Given the description of an element on the screen output the (x, y) to click on. 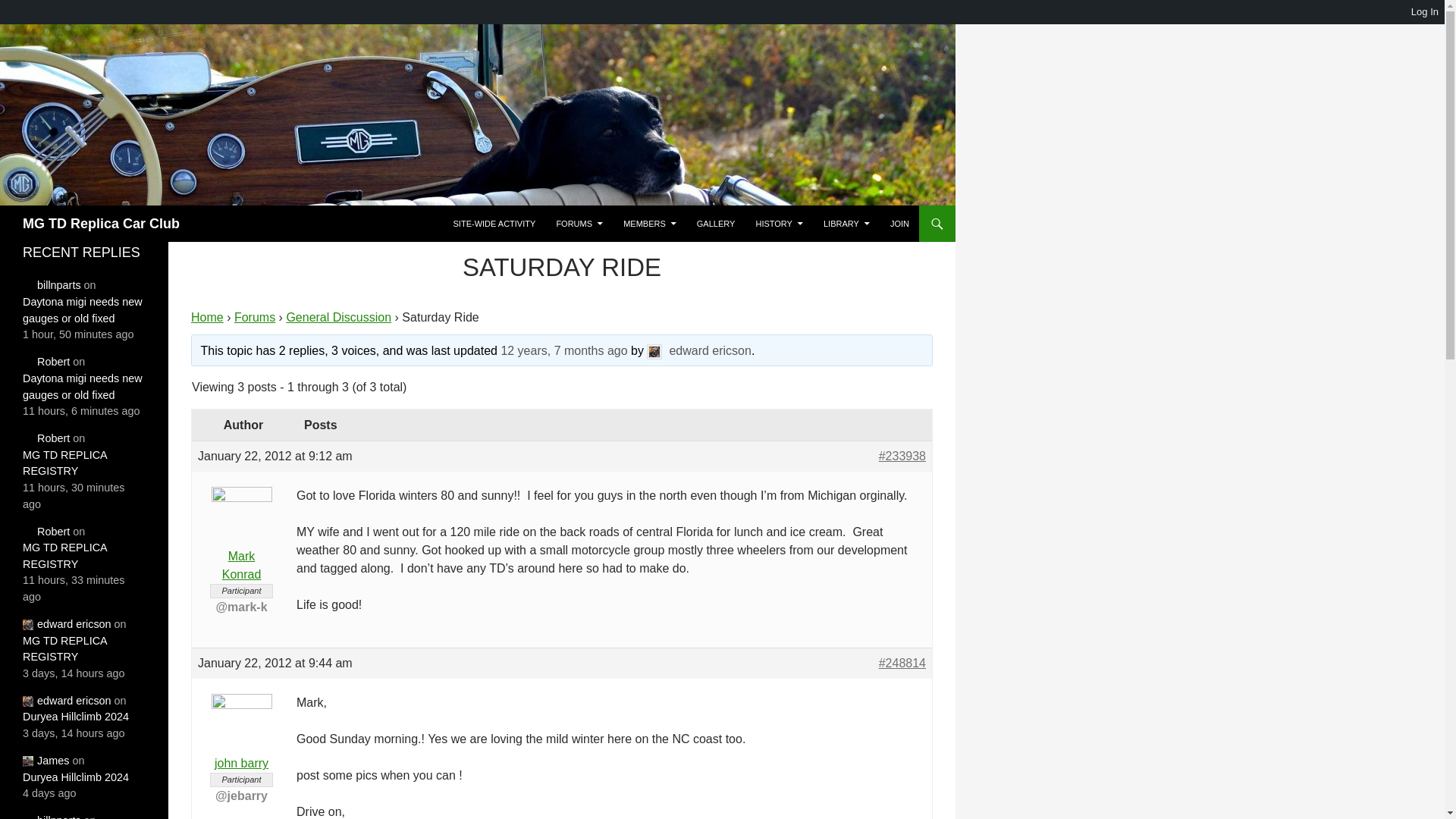
View Mark Konrad's profile (241, 545)
General Discussion (338, 317)
edward ericson (698, 350)
SITE-WIDE ACTIVITY (494, 223)
GALLERY (715, 223)
MEMBERS (649, 223)
View Robert's profile (46, 531)
JOIN (899, 223)
